Given the description of an element on the screen output the (x, y) to click on. 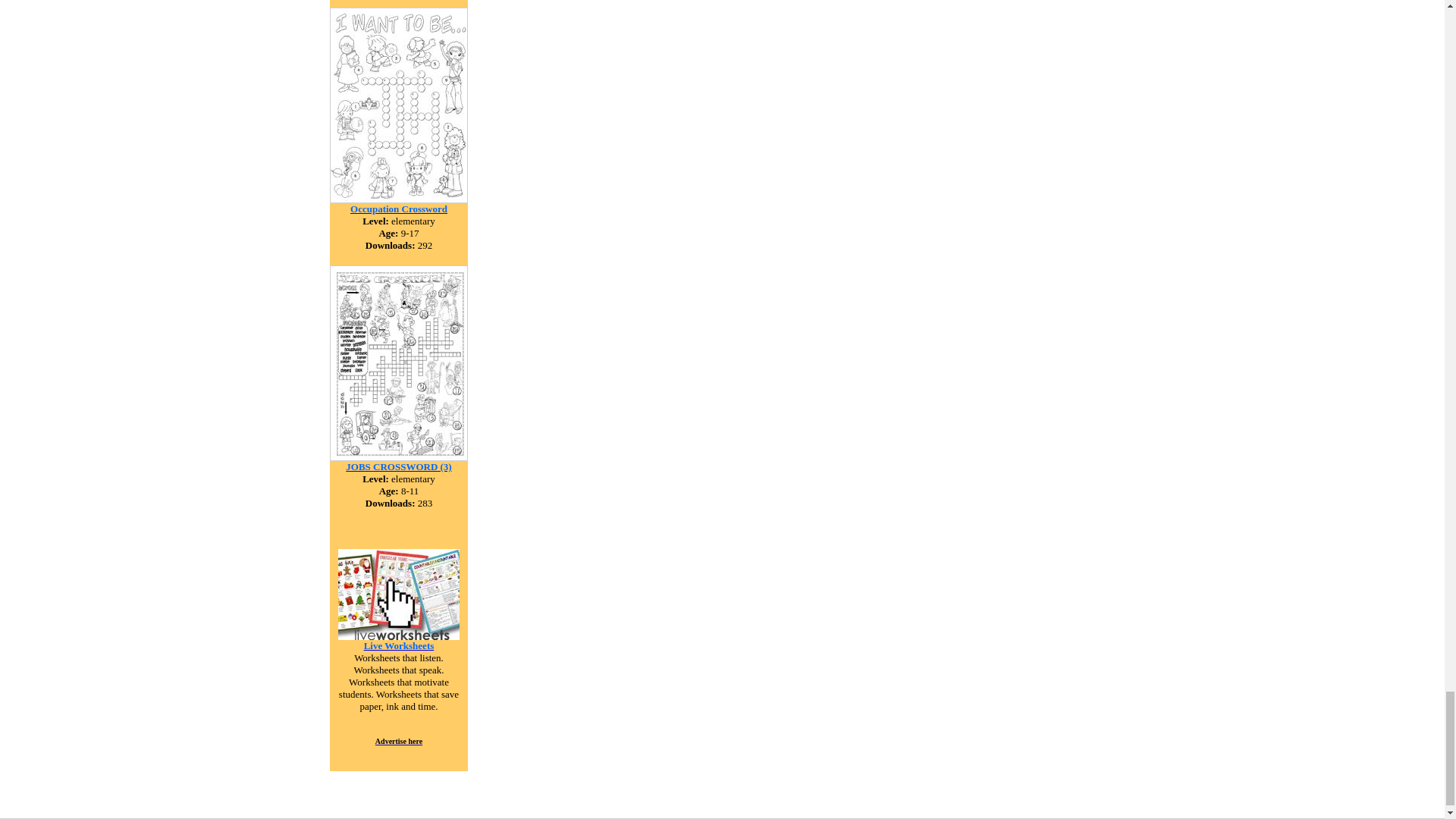
Occupation Crossword (398, 207)
